Given the description of an element on the screen output the (x, y) to click on. 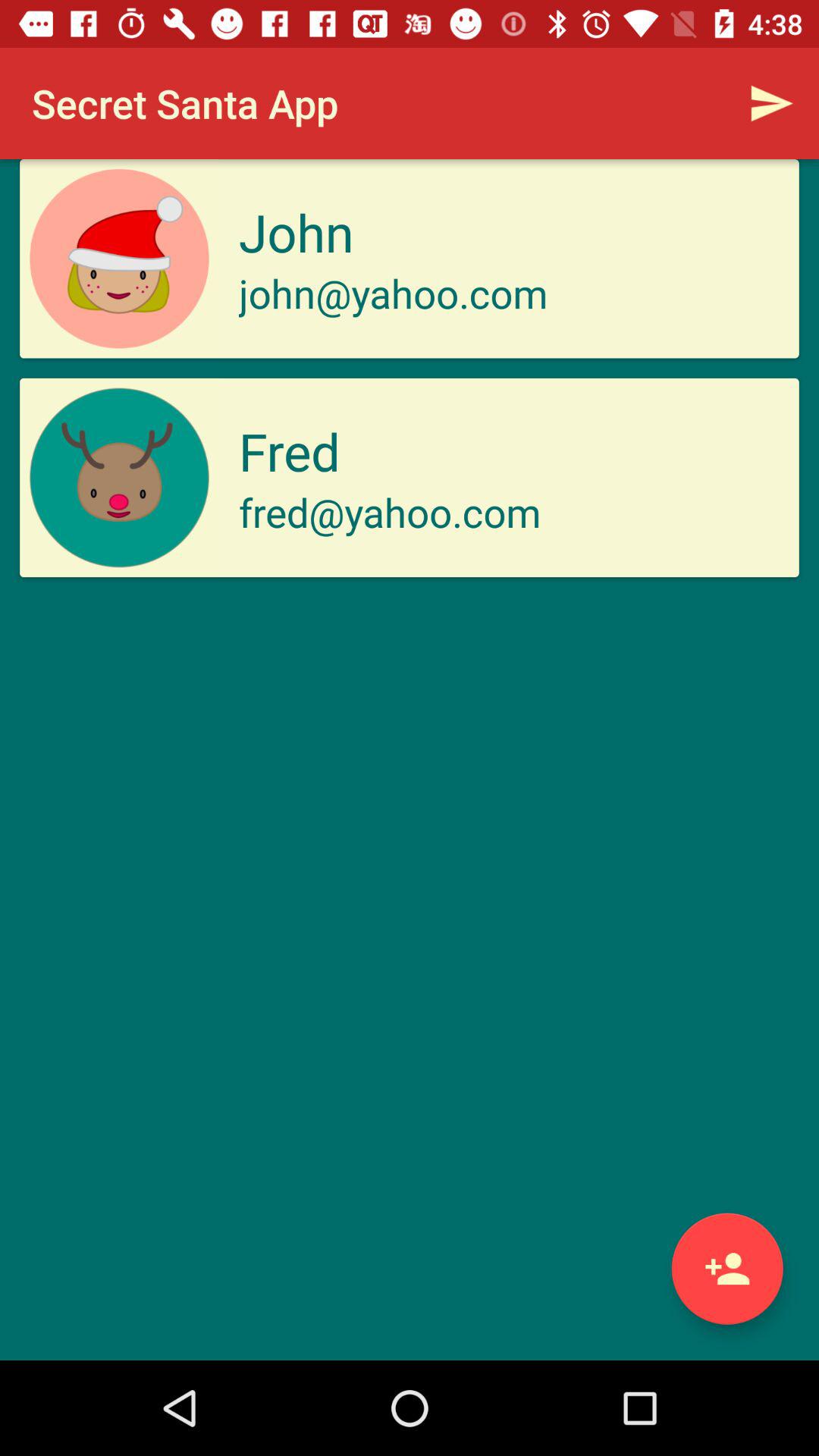
add members (727, 1268)
